Given the description of an element on the screen output the (x, y) to click on. 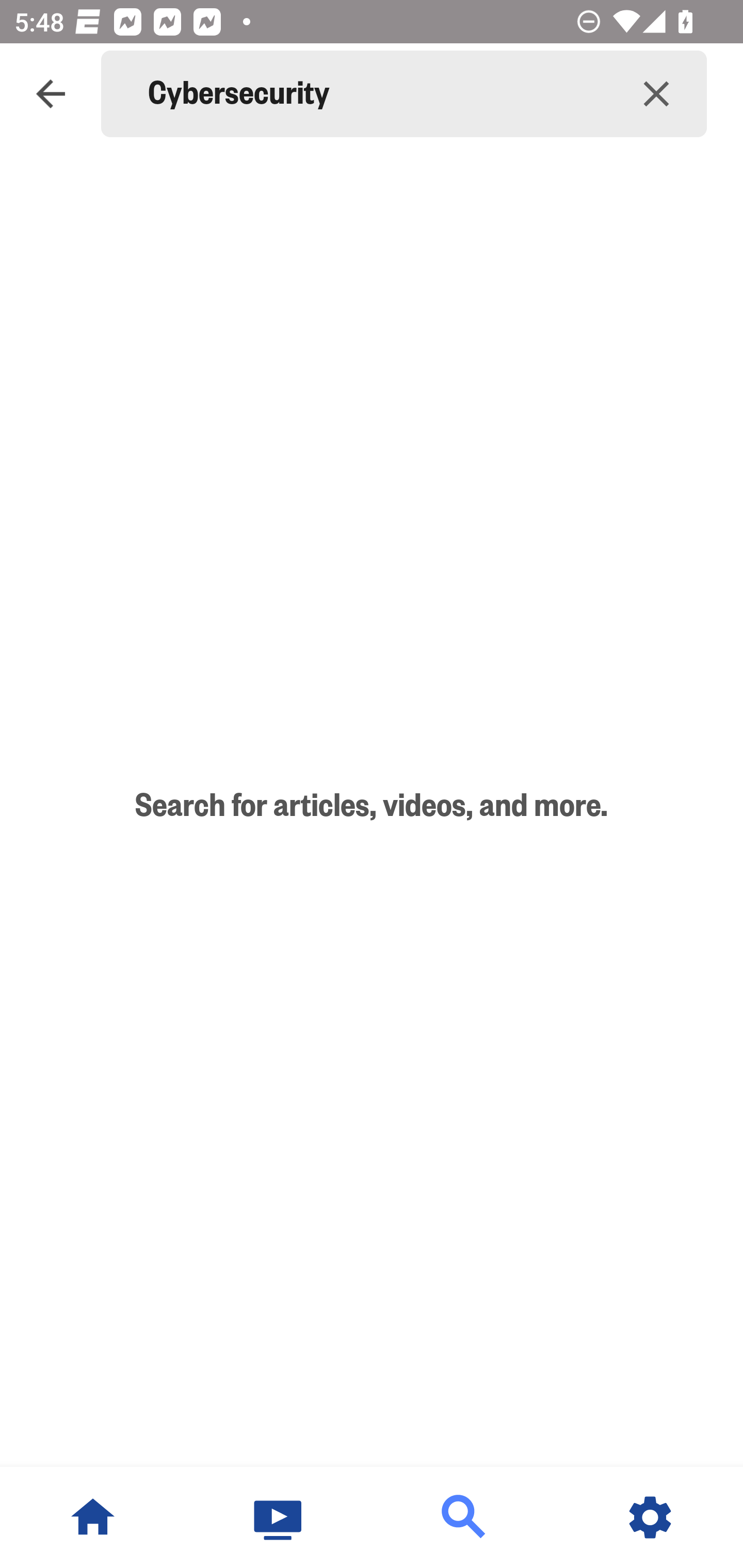
Navigate up (50, 93)
Clear query (656, 93)
Cybersecurity (376, 94)
NBC News Home (92, 1517)
Watch (278, 1517)
Settings (650, 1517)
